Given the description of an element on the screen output the (x, y) to click on. 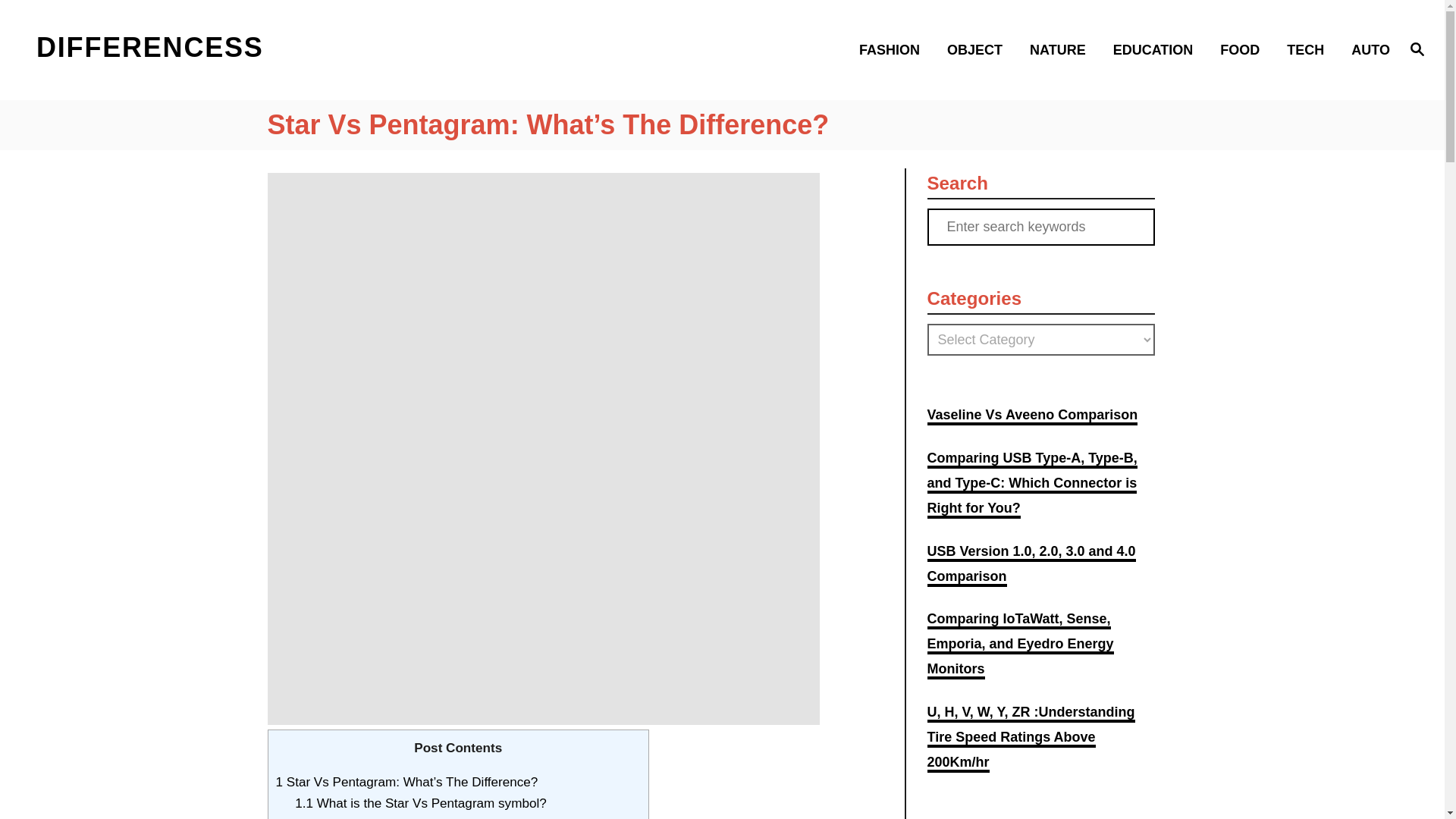
DIFFERENCESS (204, 49)
Search (62, 22)
OBJECT (978, 49)
USB Version 1.0, 2.0, 3.0 and 4.0 Comparison (1030, 565)
Vaseline Vs Aveeno Comparison (1031, 416)
FOOD (1244, 49)
TECH (1310, 49)
EDUCATION (1157, 49)
AUTO (1366, 49)
Search for: (1040, 226)
FASHION (893, 49)
NATURE (1061, 49)
